Given the description of an element on the screen output the (x, y) to click on. 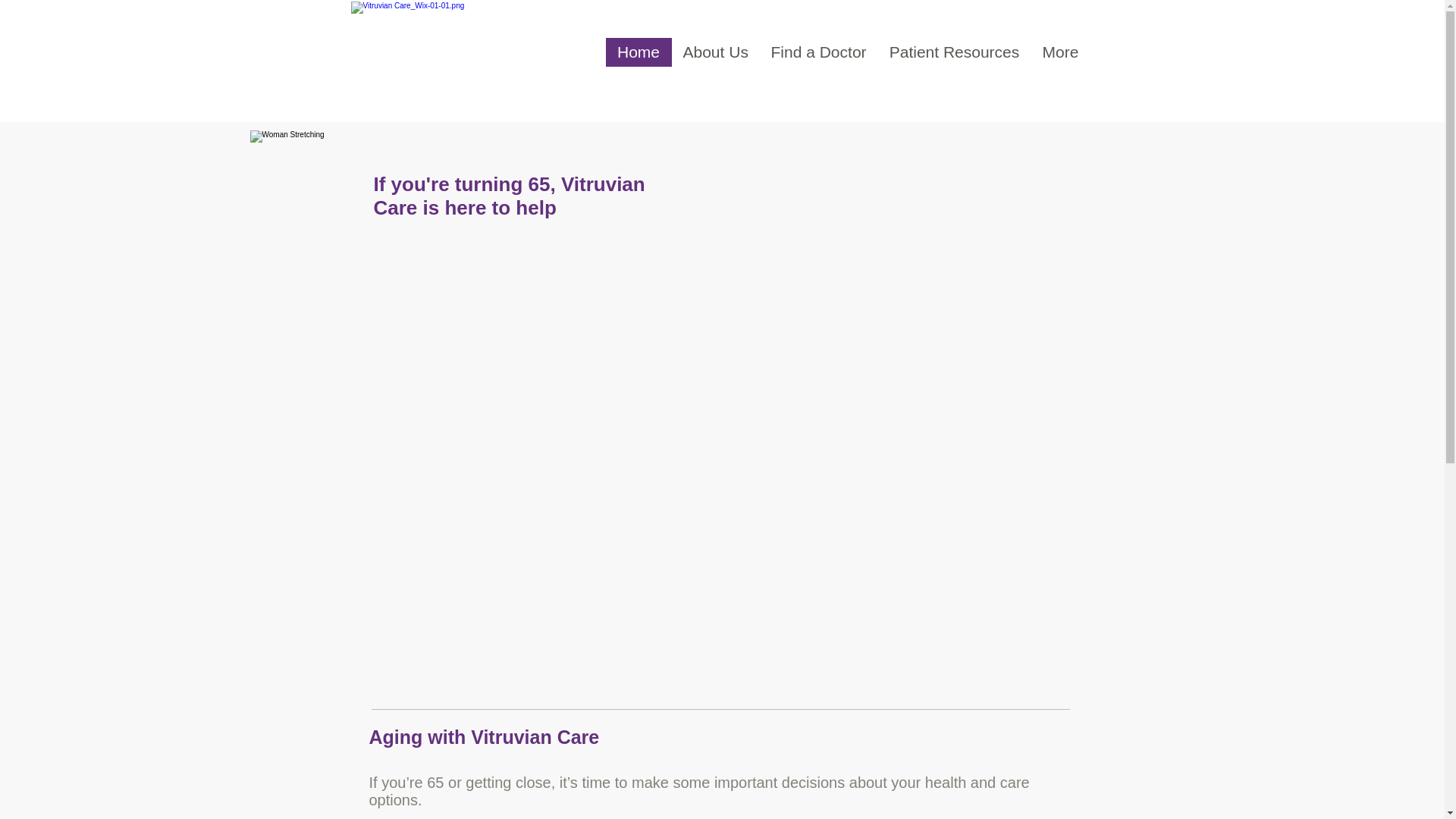
Home (638, 51)
Find a Doctor (818, 51)
Patient Resources (953, 51)
About Us (715, 51)
